Given the description of an element on the screen output the (x, y) to click on. 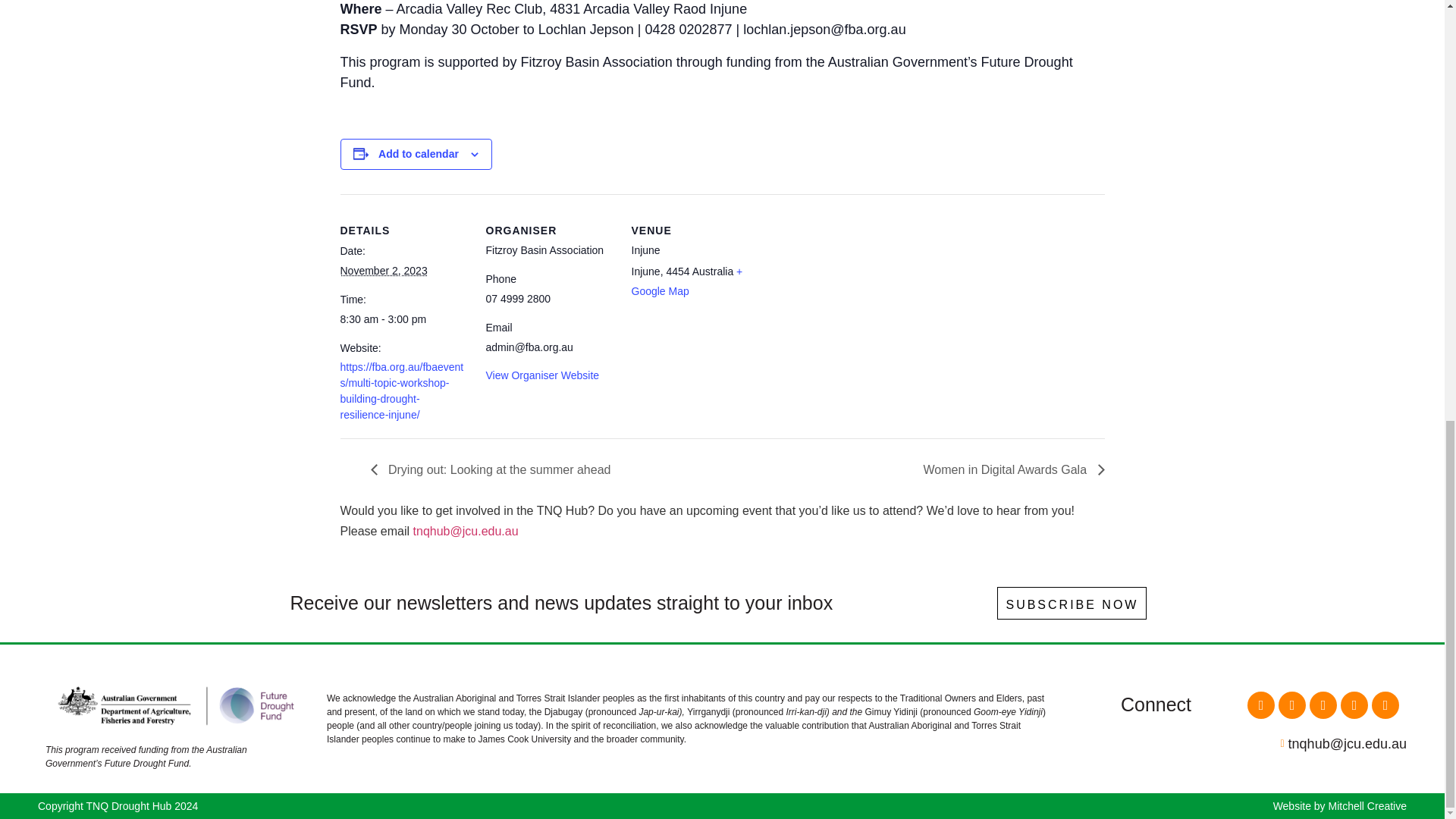
2023-11-02 (403, 319)
Click to view a Google Map (686, 281)
Google maps iframe displaying the address to Injune (856, 298)
2023-11-02 (382, 270)
